Given the description of an element on the screen output the (x, y) to click on. 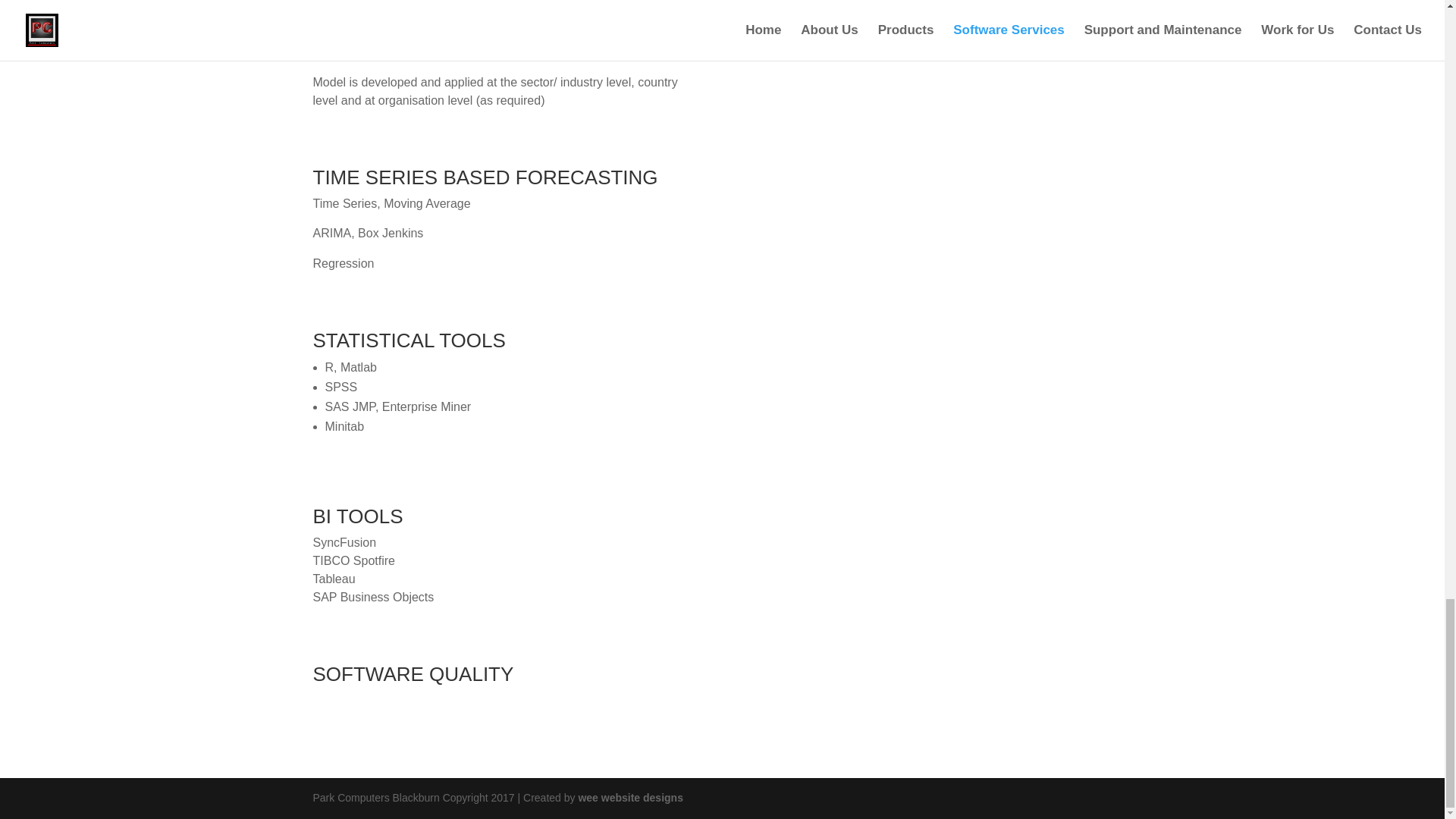
wee website designs (630, 797)
